Given the description of an element on the screen output the (x, y) to click on. 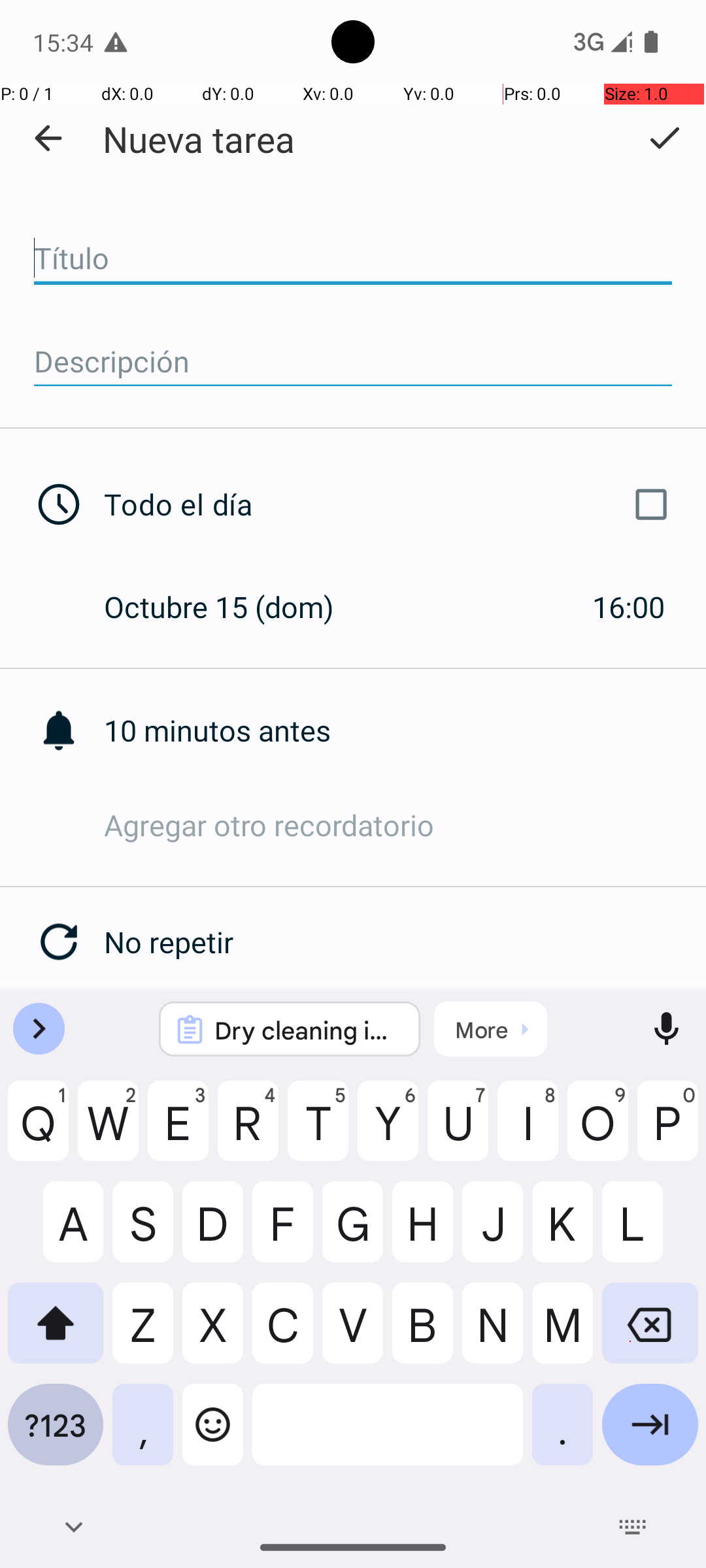
Nueva tarea Element type: android.widget.TextView (198, 138)
Guardar Element type: android.widget.Button (664, 137)
Título Element type: android.widget.EditText (352, 258)
Descripción Element type: android.widget.EditText (352, 361)
Octubre 15 (dom) Element type: android.widget.TextView (232, 606)
10 minutos antes Element type: android.widget.TextView (404, 729)
Agregar otro recordatorio Element type: android.widget.TextView (404, 824)
No repetir Element type: android.widget.TextView (404, 941)
Todo el día Element type: android.widget.CheckBox (390, 504)
Dry cleaning is ready for pick-up. Element type: android.widget.TextView (306, 1029)
